Given the description of an element on the screen output the (x, y) to click on. 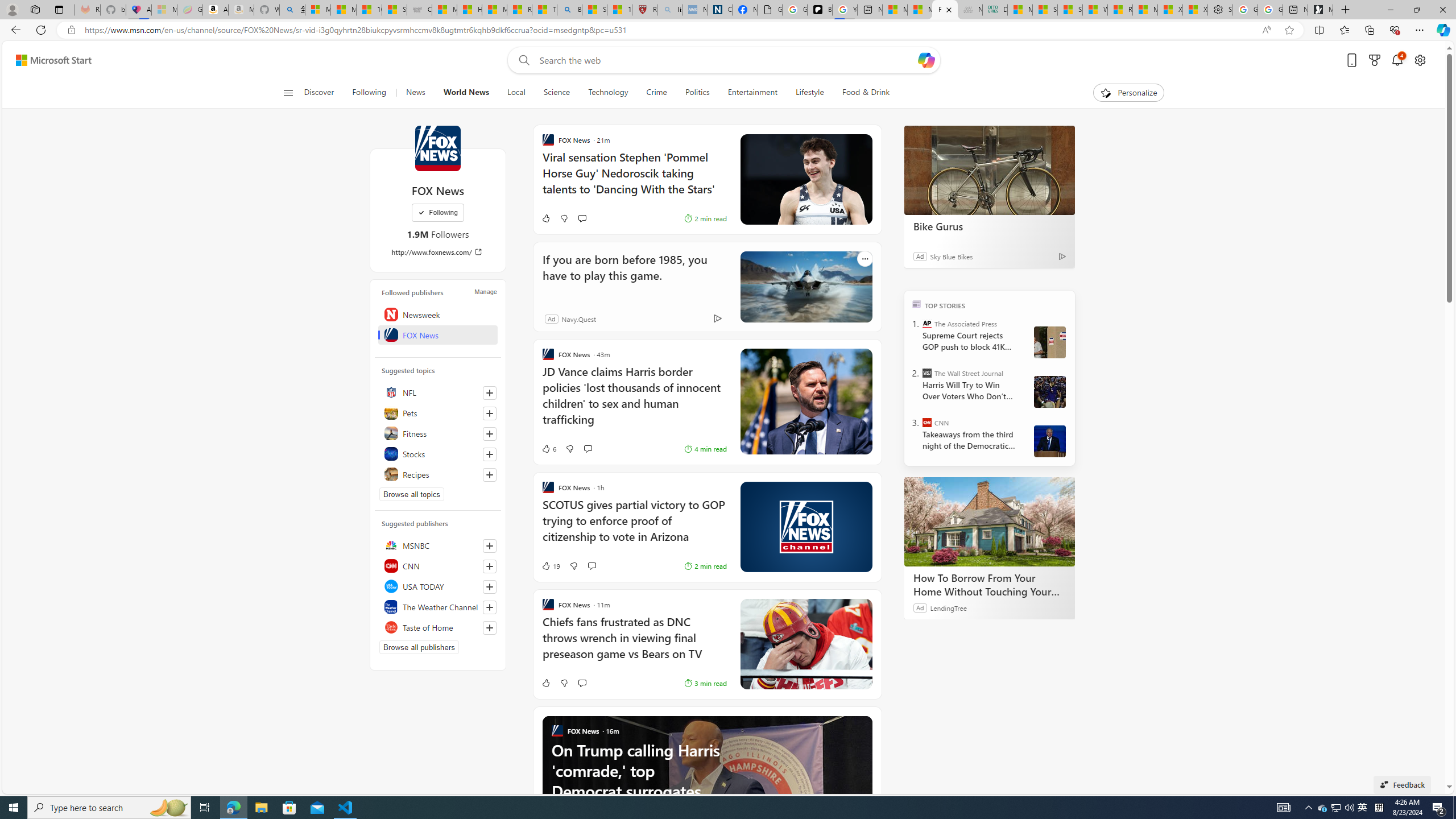
R******* | Trusted Community Engagement and Contributions (1119, 9)
Food & Drink (860, 92)
The Weather Channel (437, 606)
Navy.Quest (578, 318)
